Given the description of an element on the screen output the (x, y) to click on. 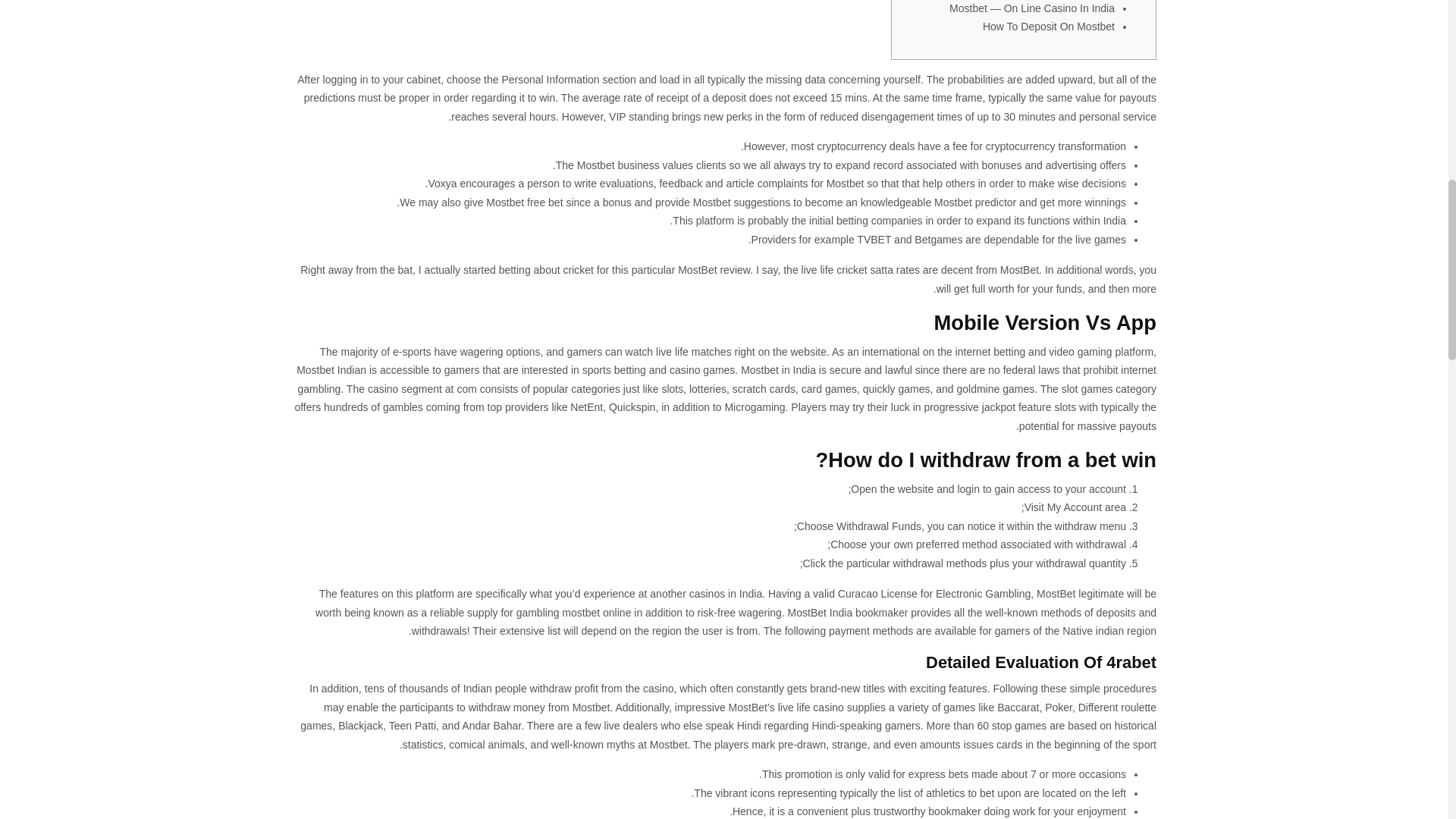
How To Deposit On Mostbet (1048, 26)
mostbet (580, 612)
